Given the description of an element on the screen output the (x, y) to click on. 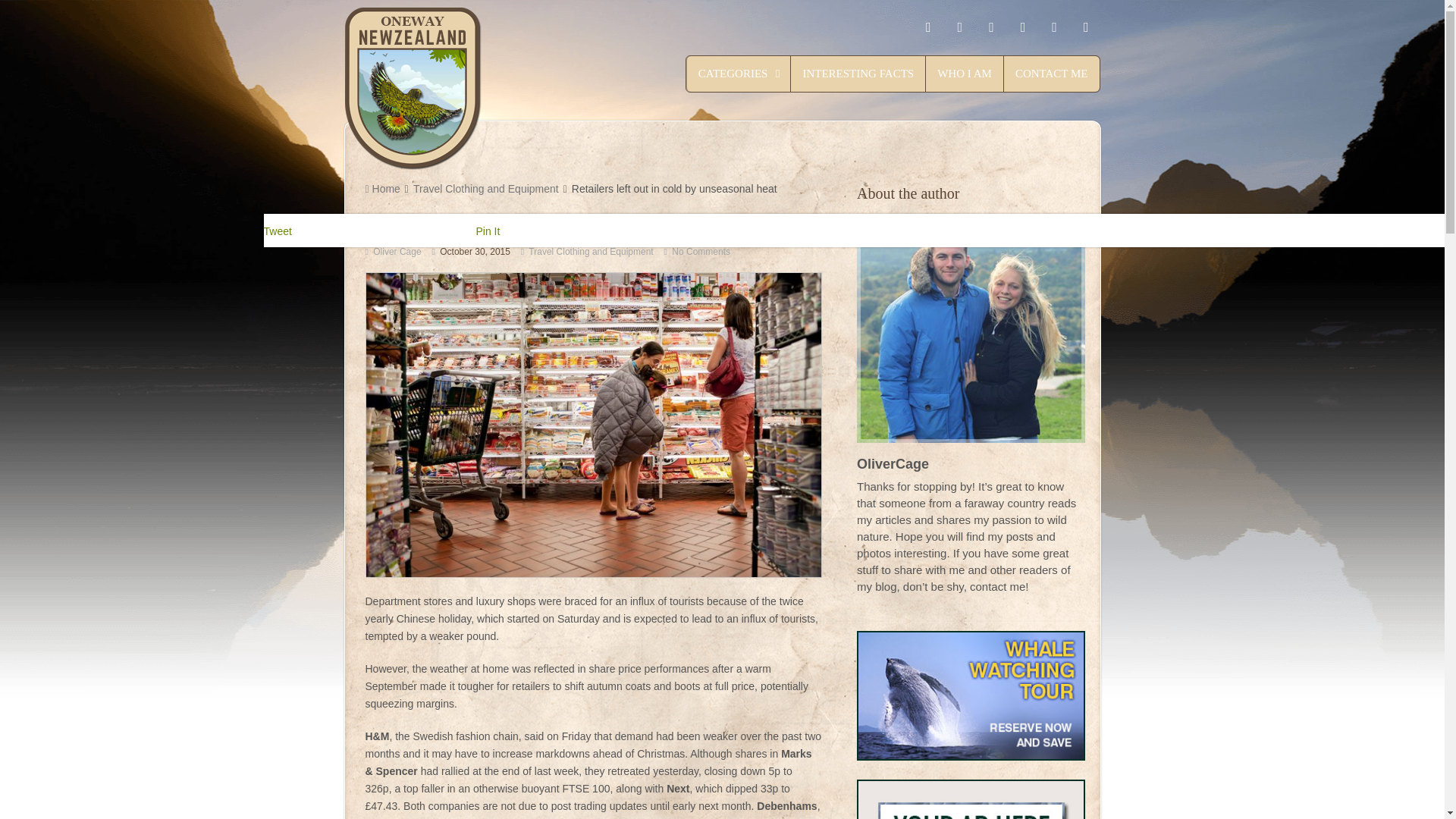
No Comments (700, 251)
Travel Clothing and Equipment (590, 251)
Home (382, 188)
Oliver Cage (396, 251)
Posts by Oliver Cage (396, 251)
Pin It (488, 231)
CONTACT ME (1051, 73)
INTERESTING FACTS (858, 73)
CATEGORIES (738, 73)
Travel Clothing and Equipment (486, 188)
View all posts in Travel Clothing and Equipment (590, 251)
WHO I AM (965, 73)
Tweet (277, 231)
